Given the description of an element on the screen output the (x, y) to click on. 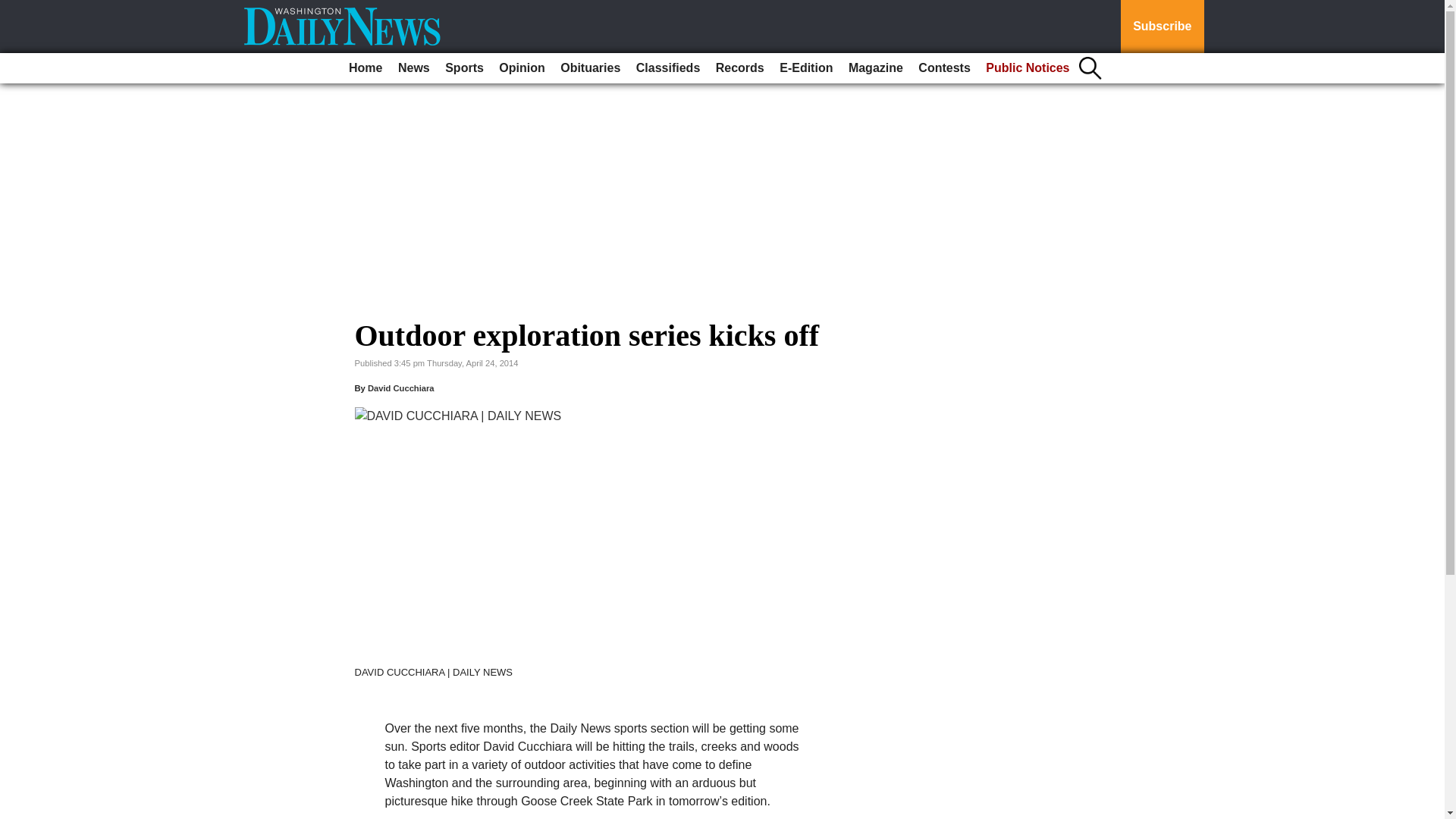
News (413, 68)
David Cucchiara (400, 388)
Opinion (521, 68)
Obituaries (590, 68)
E-Edition (805, 68)
Contests (943, 68)
Public Notices (1027, 68)
Subscribe (1162, 26)
Classifieds (668, 68)
Go (13, 9)
